Given the description of an element on the screen output the (x, y) to click on. 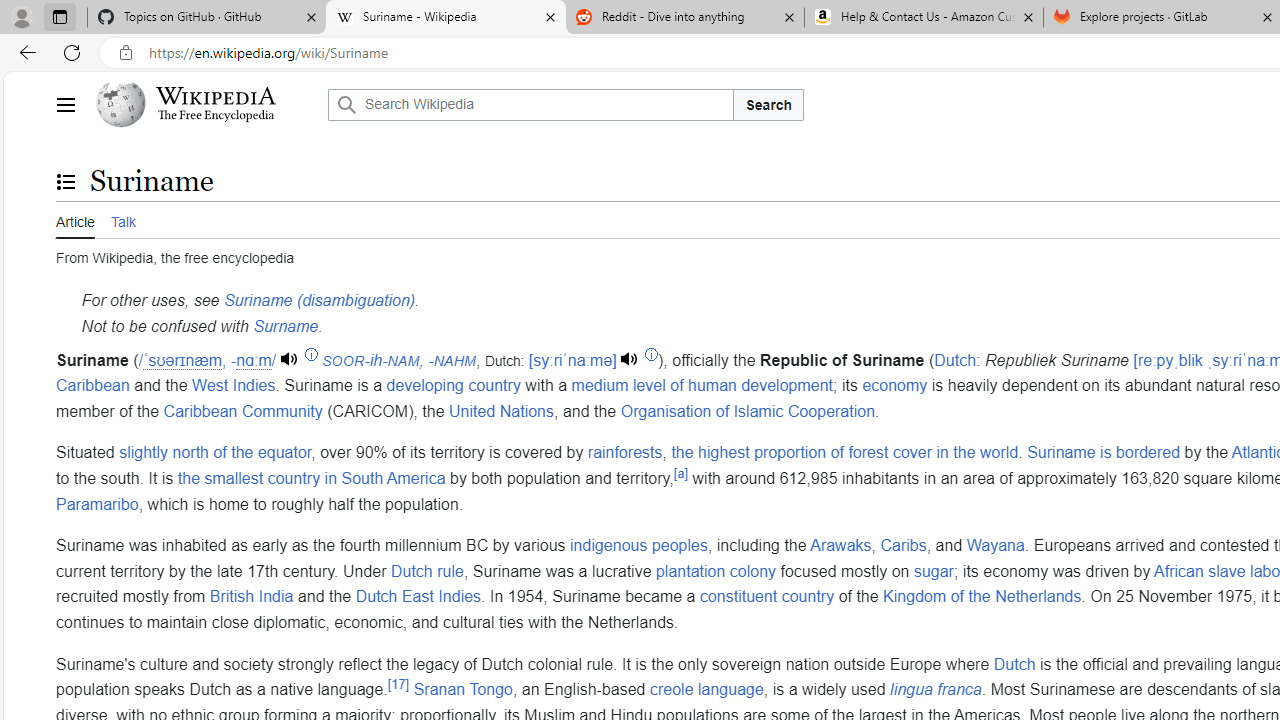
Help & Contact Us - Amazon Customer Service (924, 17)
Arawaks (840, 546)
Article (75, 219)
Dutch (1014, 664)
Dutch East Indies (418, 597)
Caribbean Community (242, 410)
Reddit - Dive into anything (684, 17)
British India (251, 597)
rainforests (625, 453)
the smallest country in South America (310, 477)
Suriname is bordered (1103, 453)
Caribs (903, 546)
